Given the description of an element on the screen output the (x, y) to click on. 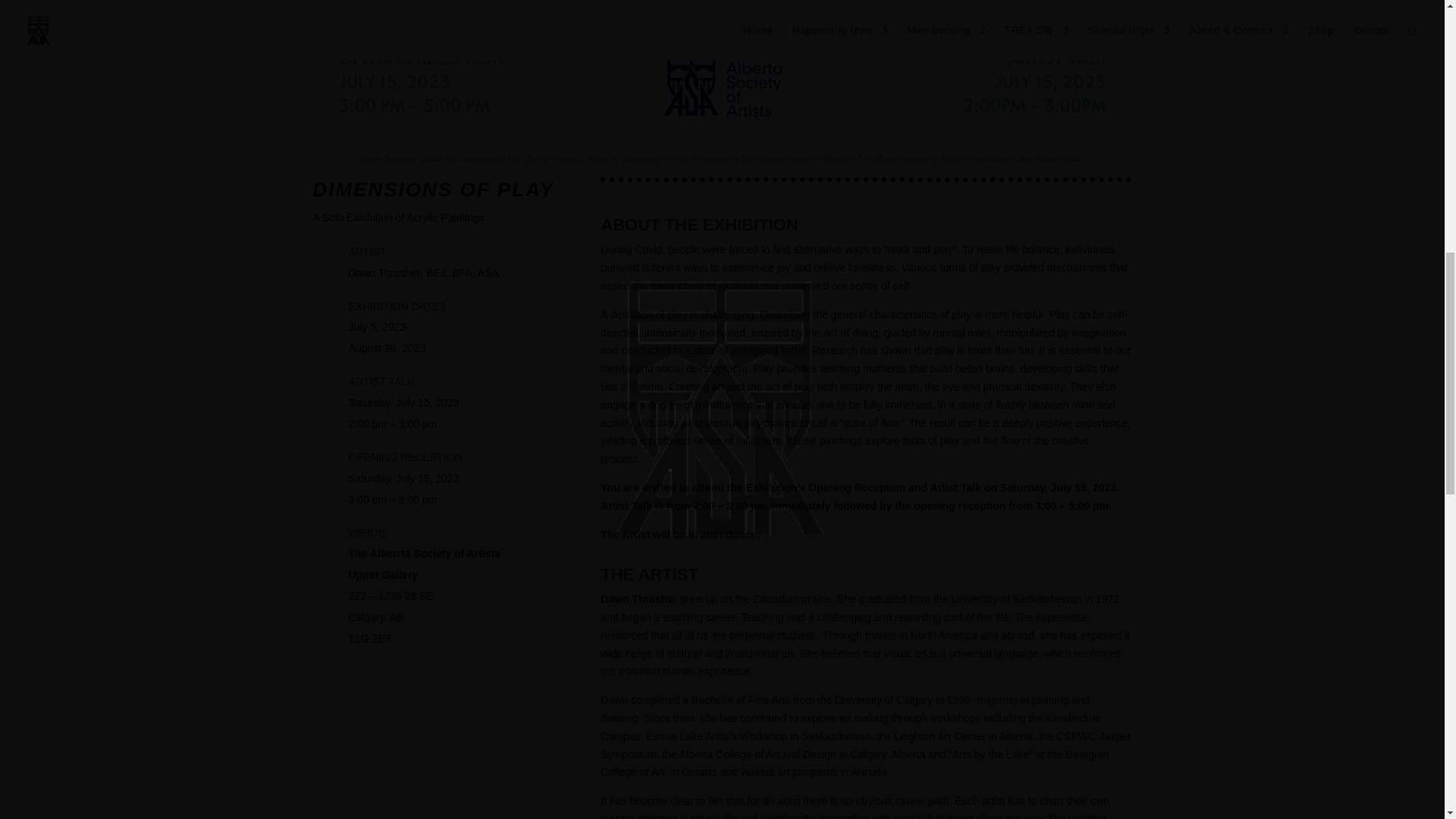
VENUE (367, 532)
